Given the description of an element on the screen output the (x, y) to click on. 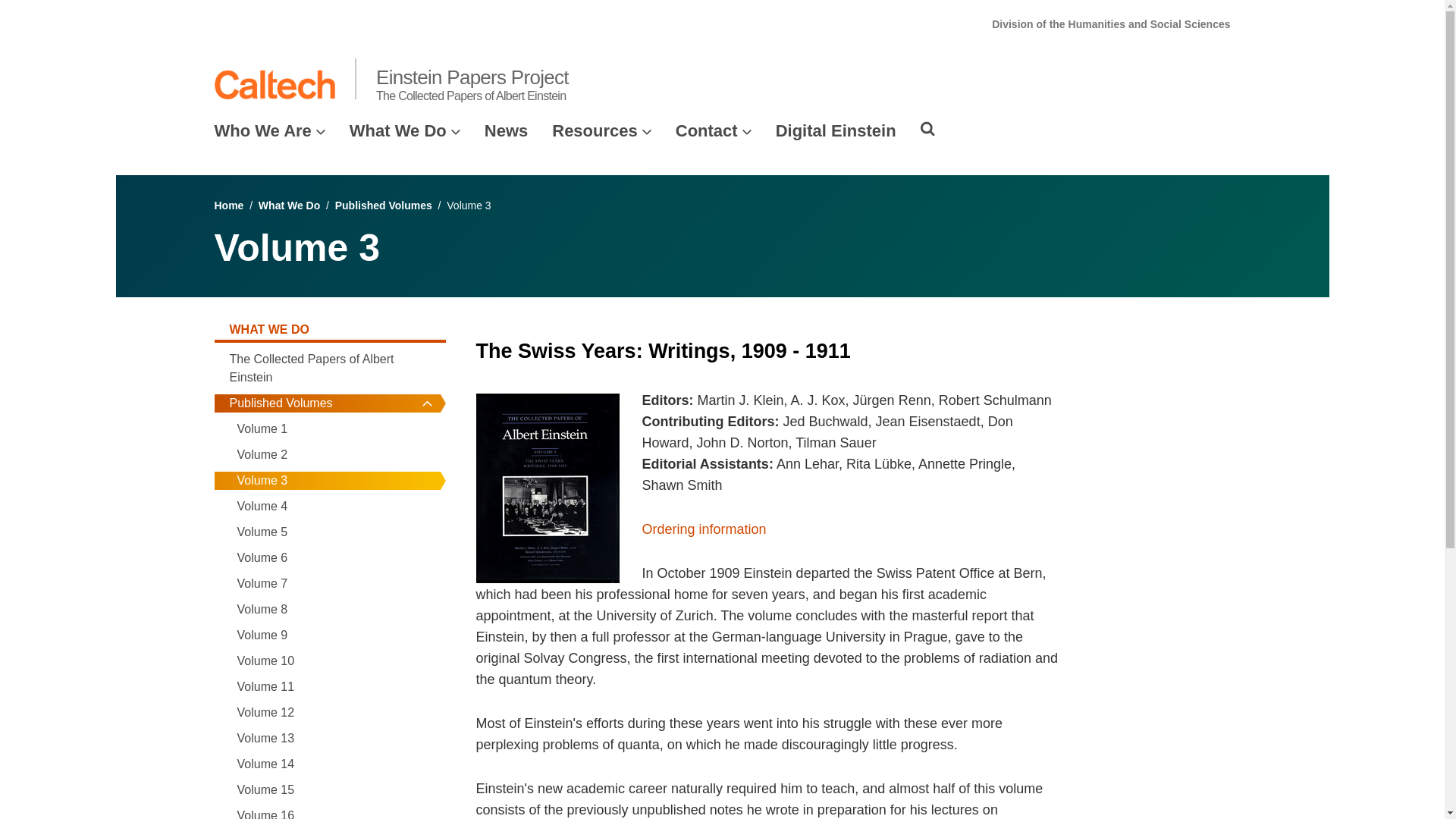
Who We Are (262, 130)
skip to main content (53, 12)
Division of the Humanities and Social Sciences (1110, 24)
What We Do (397, 130)
Contact (706, 130)
Resources (594, 130)
News (505, 130)
